Given the description of an element on the screen output the (x, y) to click on. 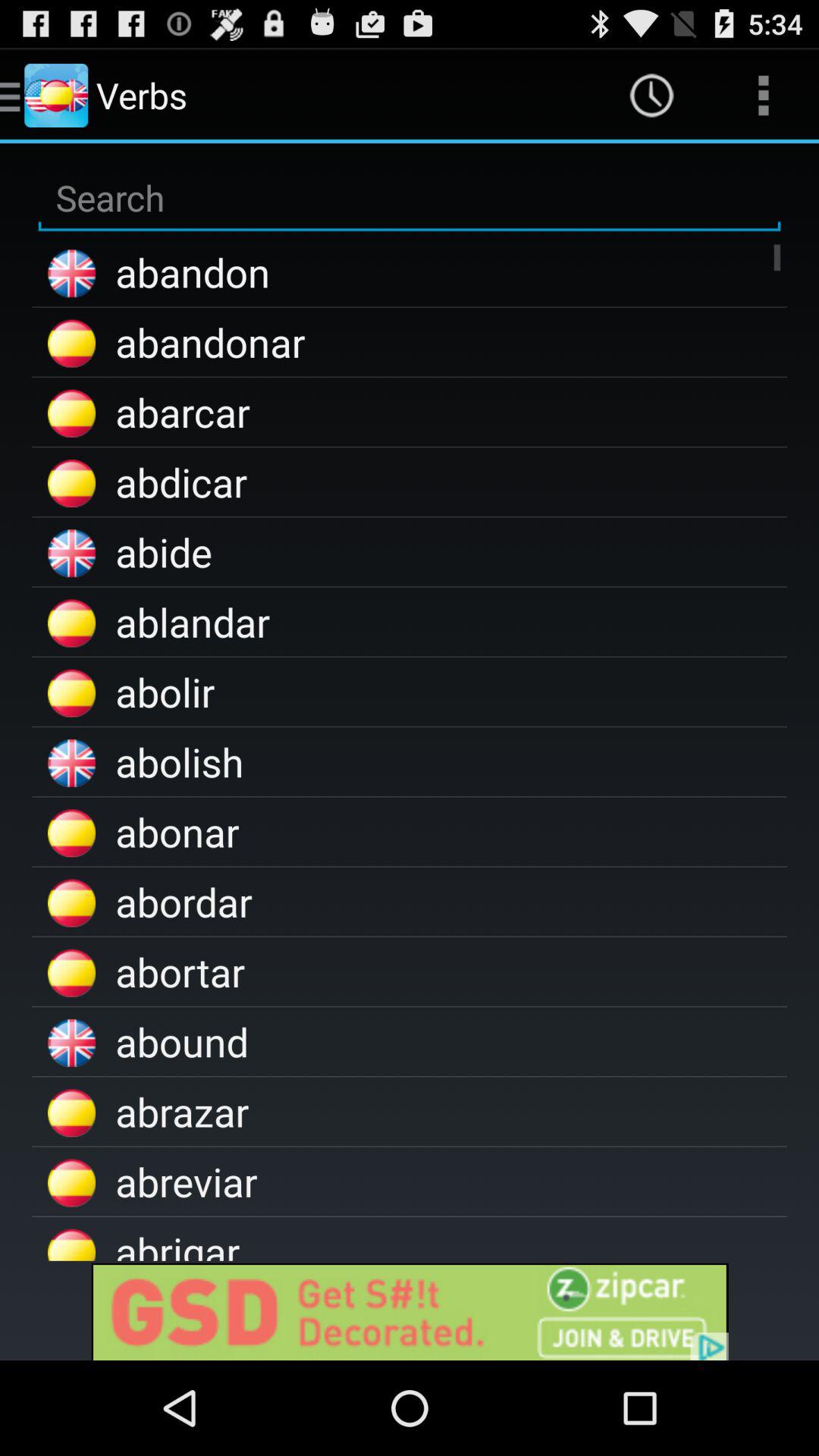
search for something (409, 198)
